Given the description of an element on the screen output the (x, y) to click on. 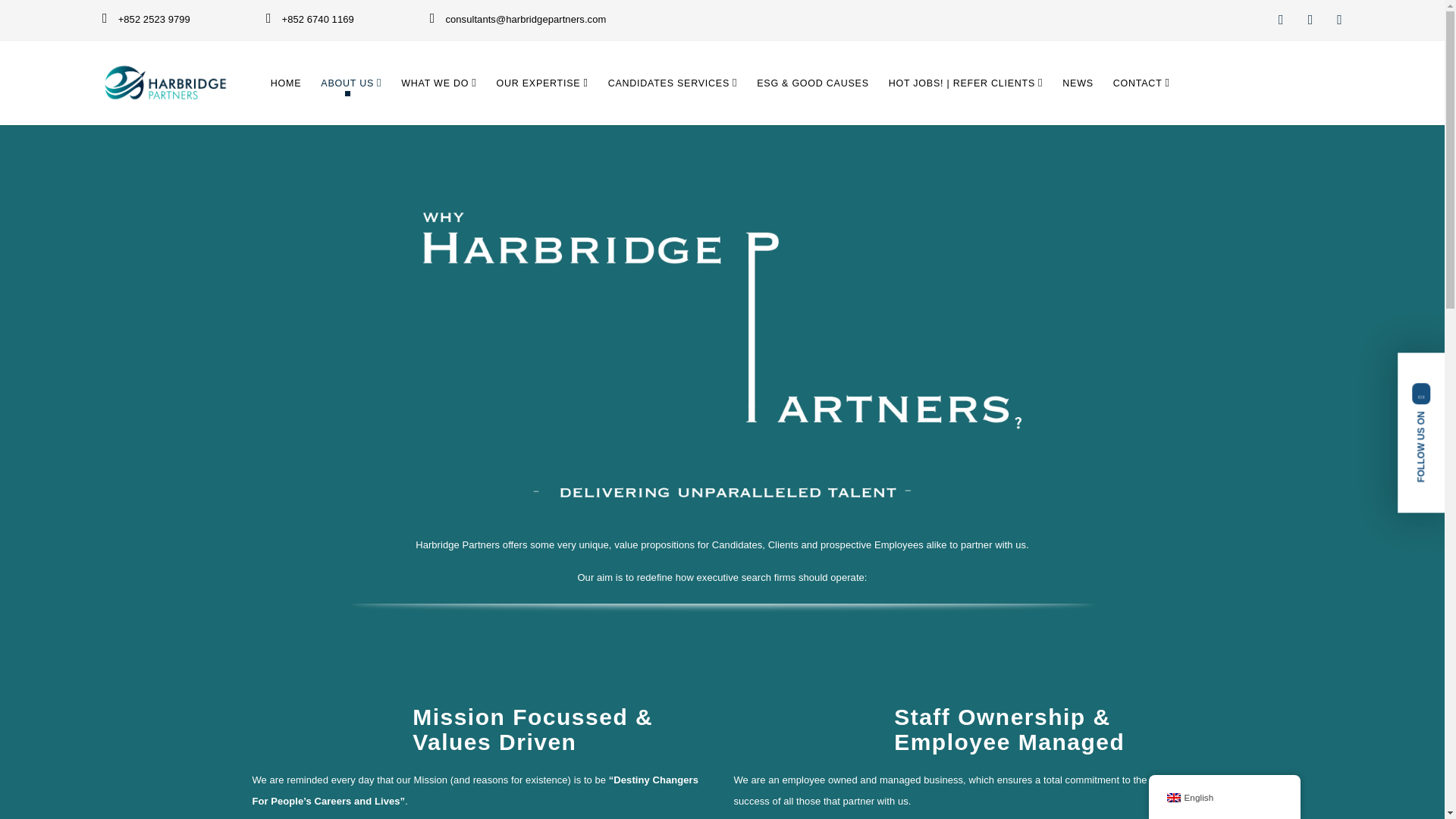
WHAT WE DO (438, 82)
OUR EXPERTISE (542, 82)
CANDIDATES SERVICES (673, 82)
English (1172, 797)
